Given the description of an element on the screen output the (x, y) to click on. 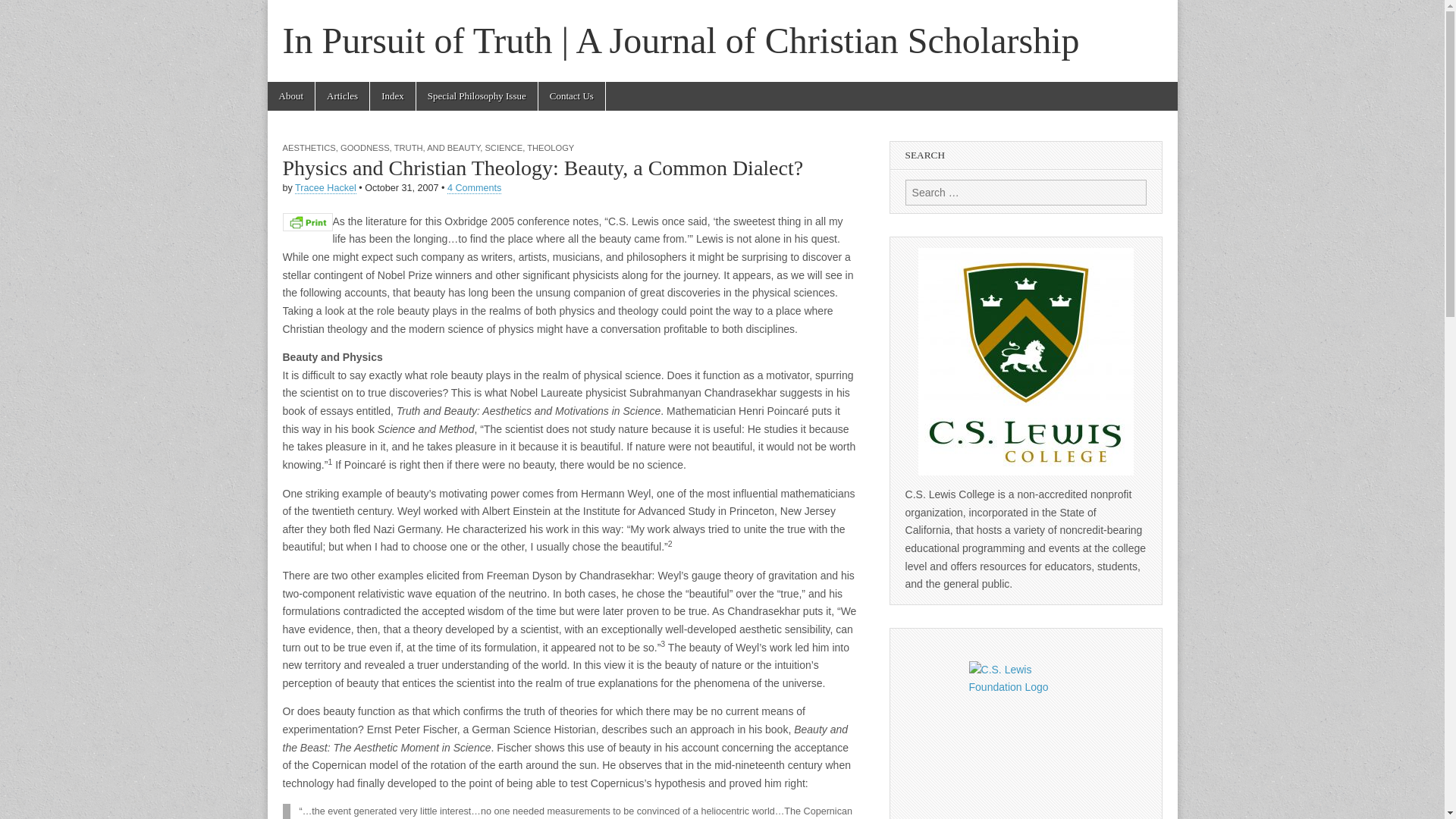
SCIENCE (503, 147)
About (290, 95)
Posts by Tracee Hackel (325, 188)
GOODNESS, TRUTH, AND BEAUTY (410, 147)
Special Philosophy Issue (476, 95)
Tracee Hackel (325, 188)
4 Comments (473, 188)
Index (391, 95)
Articles (342, 95)
